Given the description of an element on the screen output the (x, y) to click on. 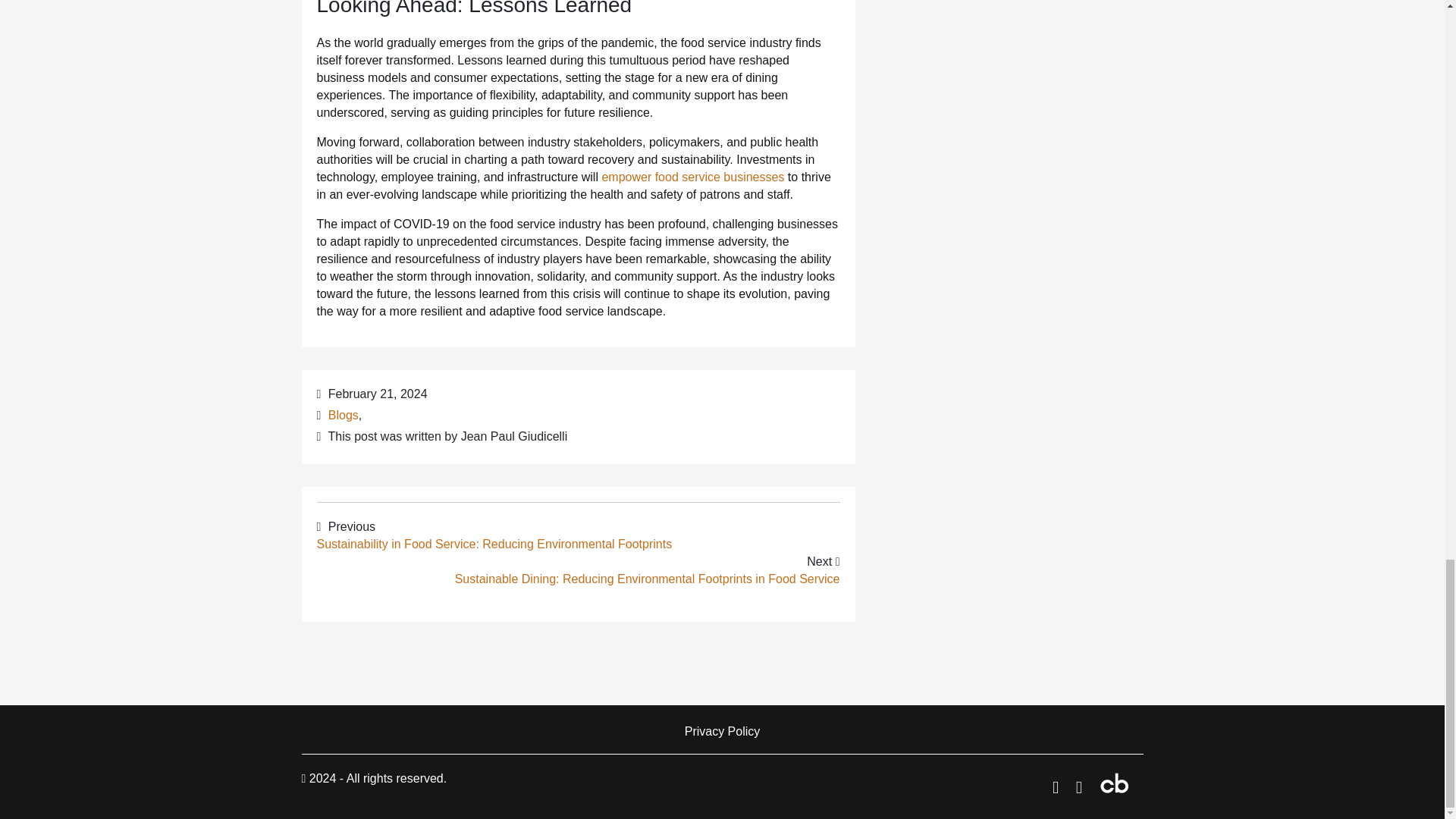
Privacy Policy (722, 731)
empower food service businesses (692, 176)
Blogs (343, 414)
